Given the description of an element on the screen output the (x, y) to click on. 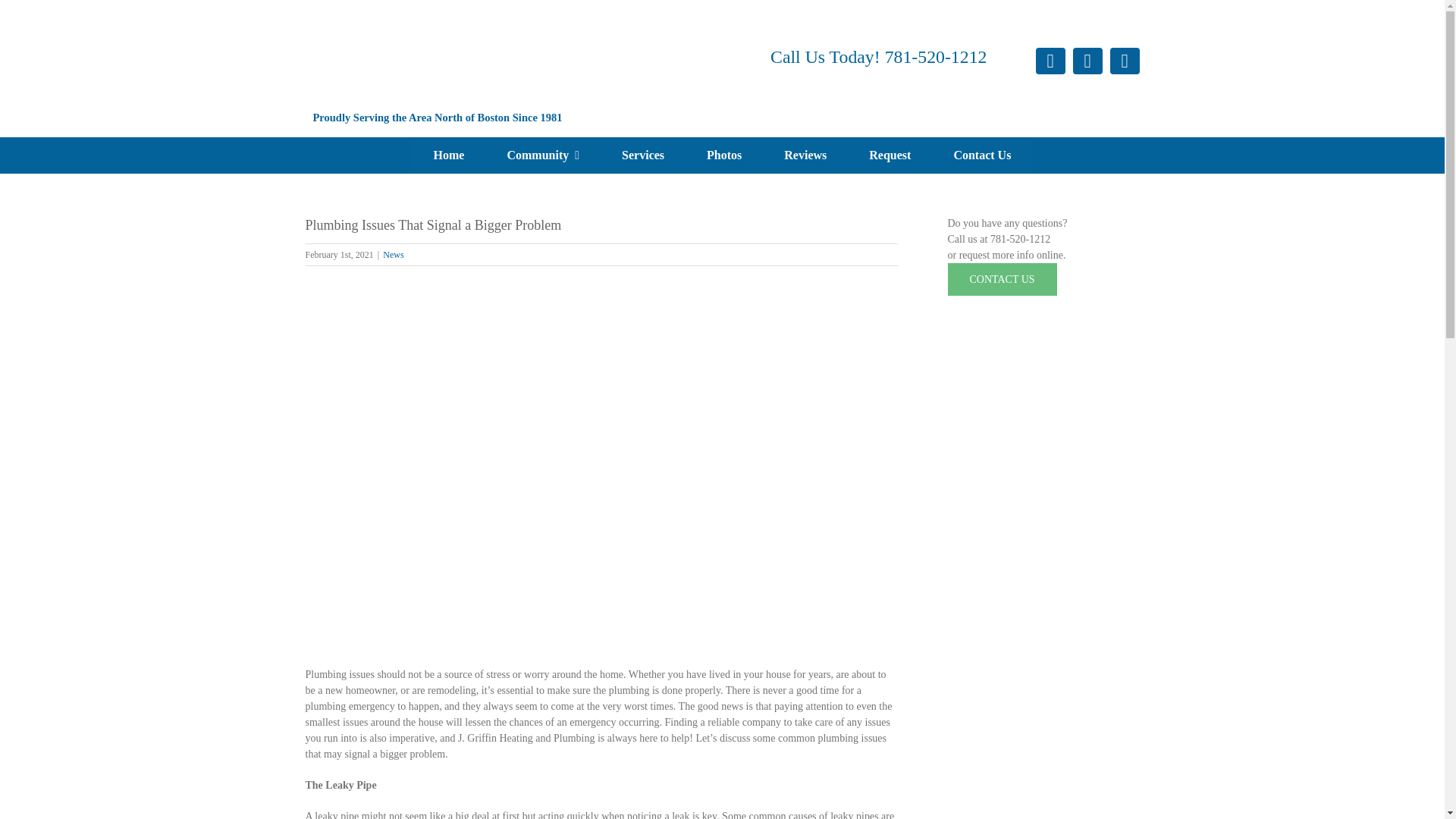
Instagram (1086, 60)
Request (889, 155)
781-520-1212 (936, 56)
Community (541, 155)
Reviews (804, 155)
CONTACT US (1002, 278)
Photos (723, 155)
Contact Us (981, 155)
Home (449, 155)
Facebook (1050, 60)
Services (642, 155)
News (392, 254)
Email (1124, 60)
